Given the description of an element on the screen output the (x, y) to click on. 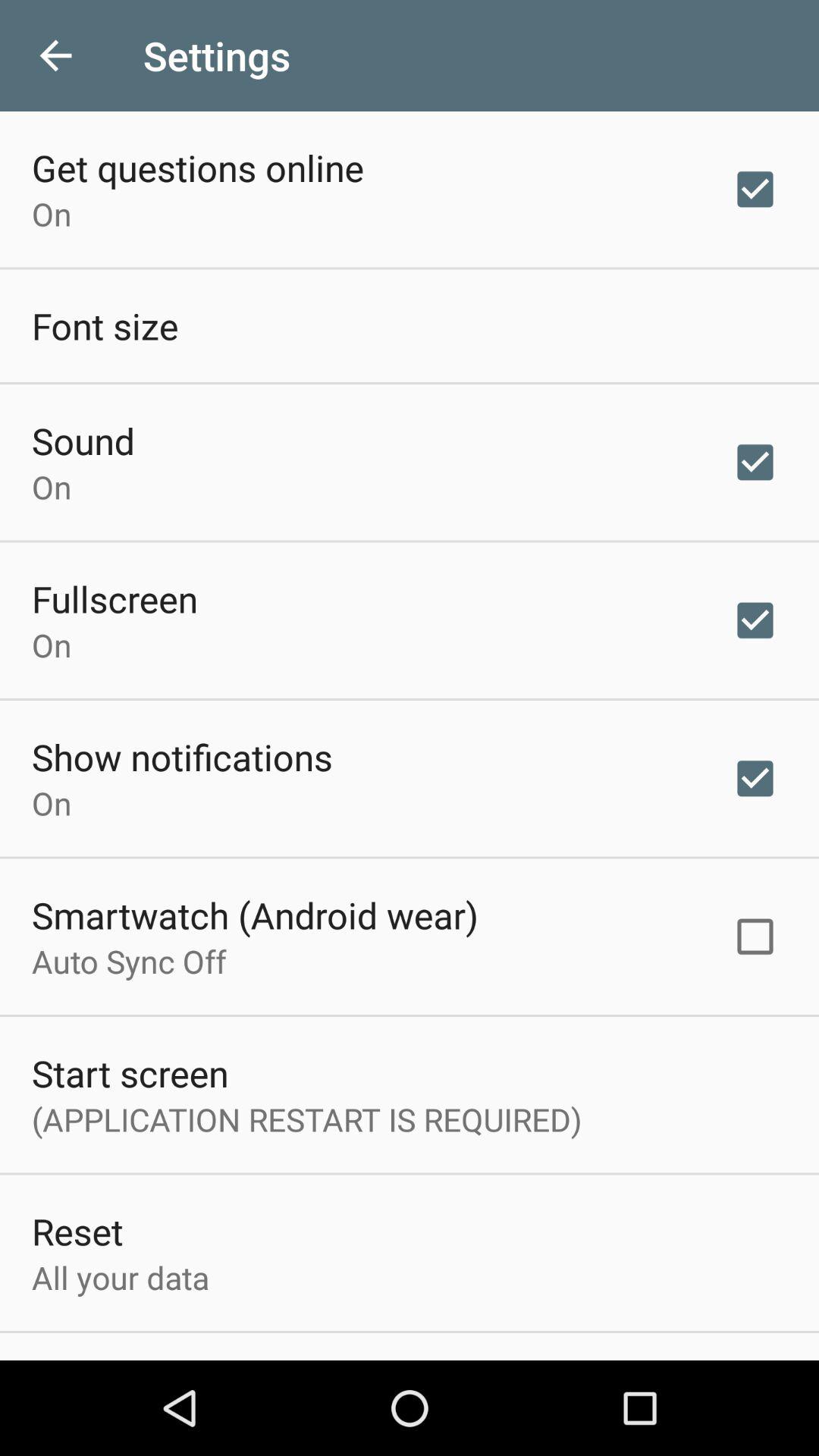
choose item above sound icon (104, 325)
